Given the description of an element on the screen output the (x, y) to click on. 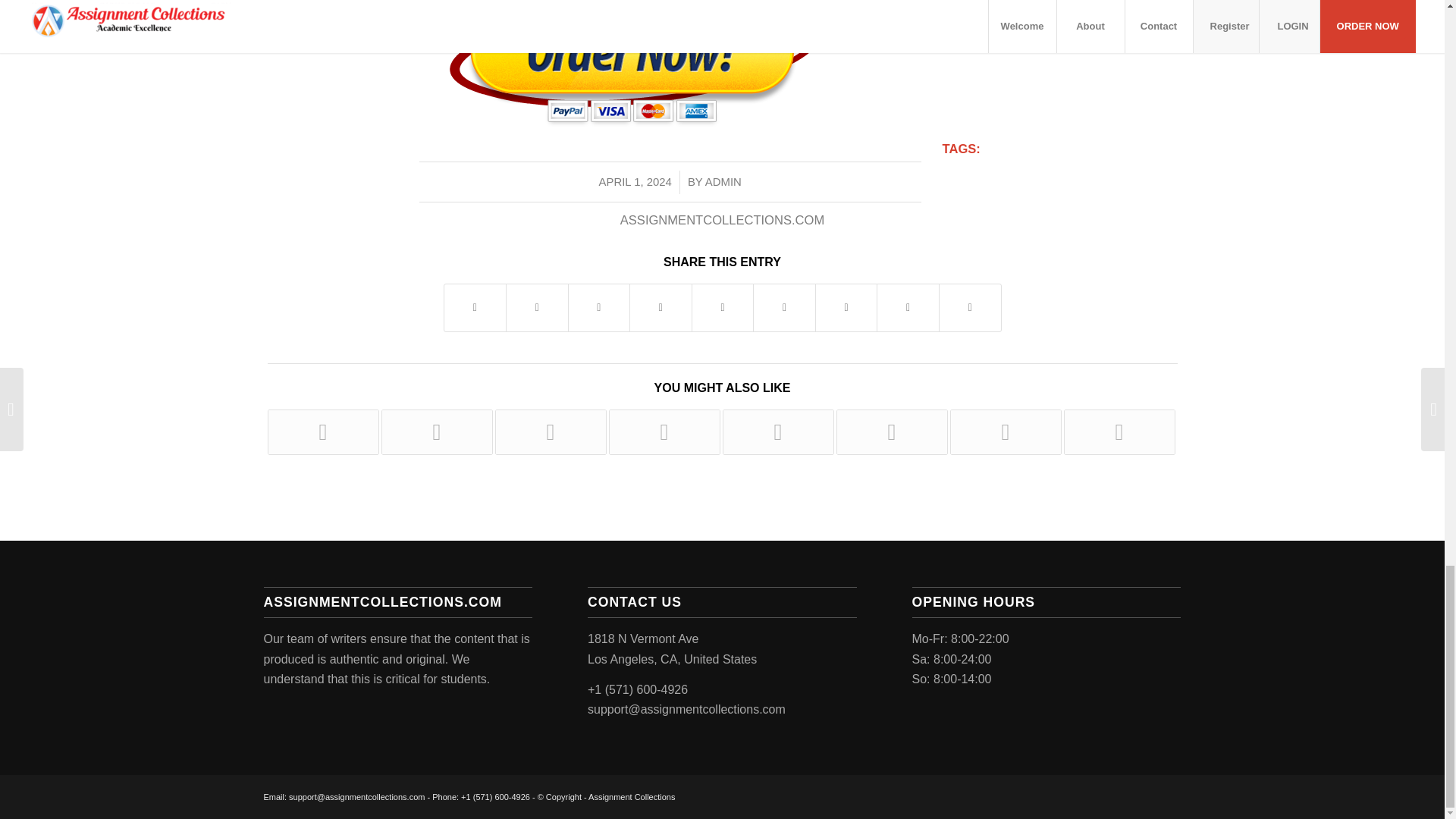
ASSIGNMENTCOLLECTIONS.COM (722, 219)
Posts by admin (722, 182)
ADMIN (722, 182)
